Given the description of an element on the screen output the (x, y) to click on. 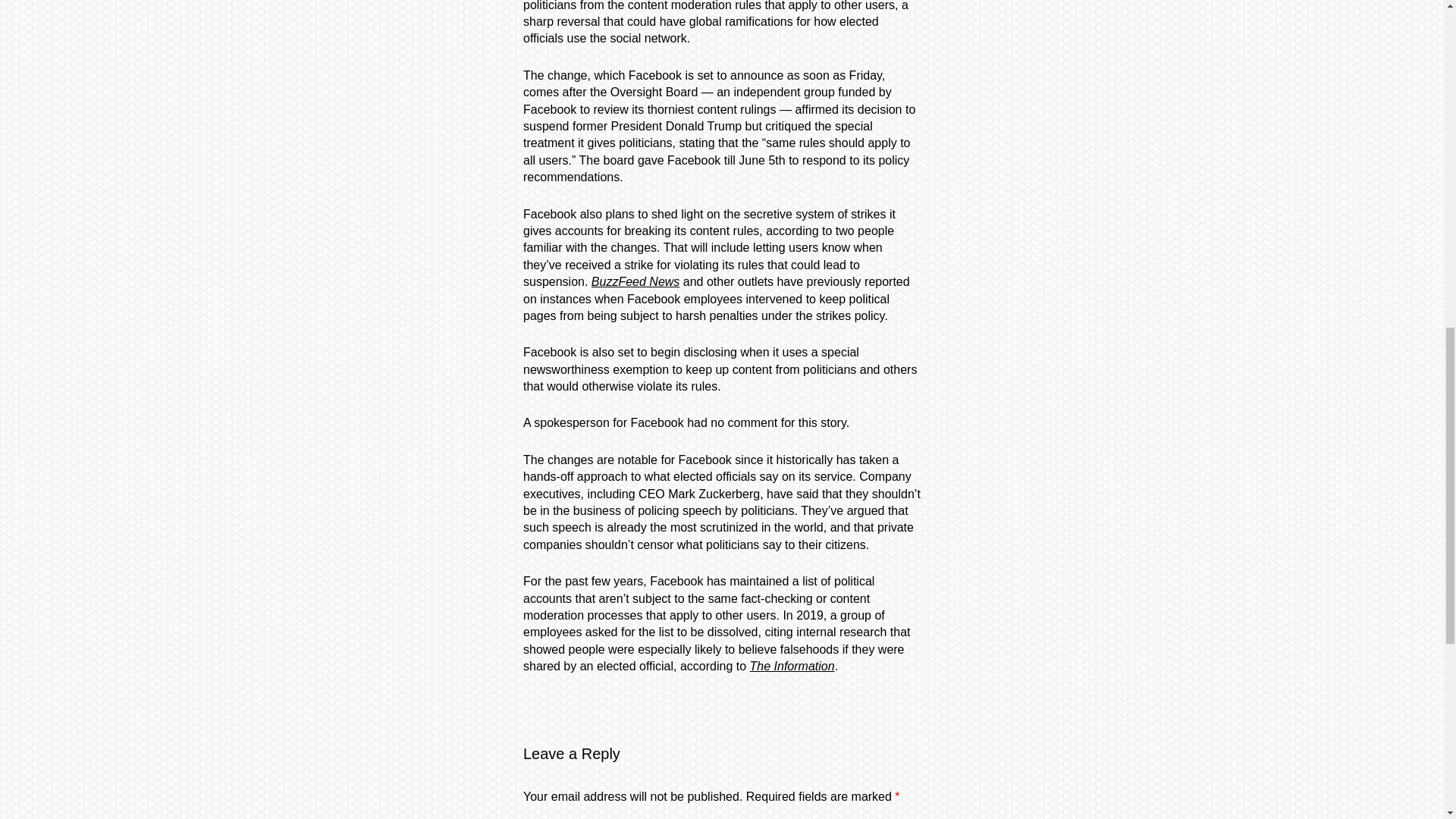
BuzzFeed News (635, 281)
The Information (791, 666)
